Given the description of an element on the screen output the (x, y) to click on. 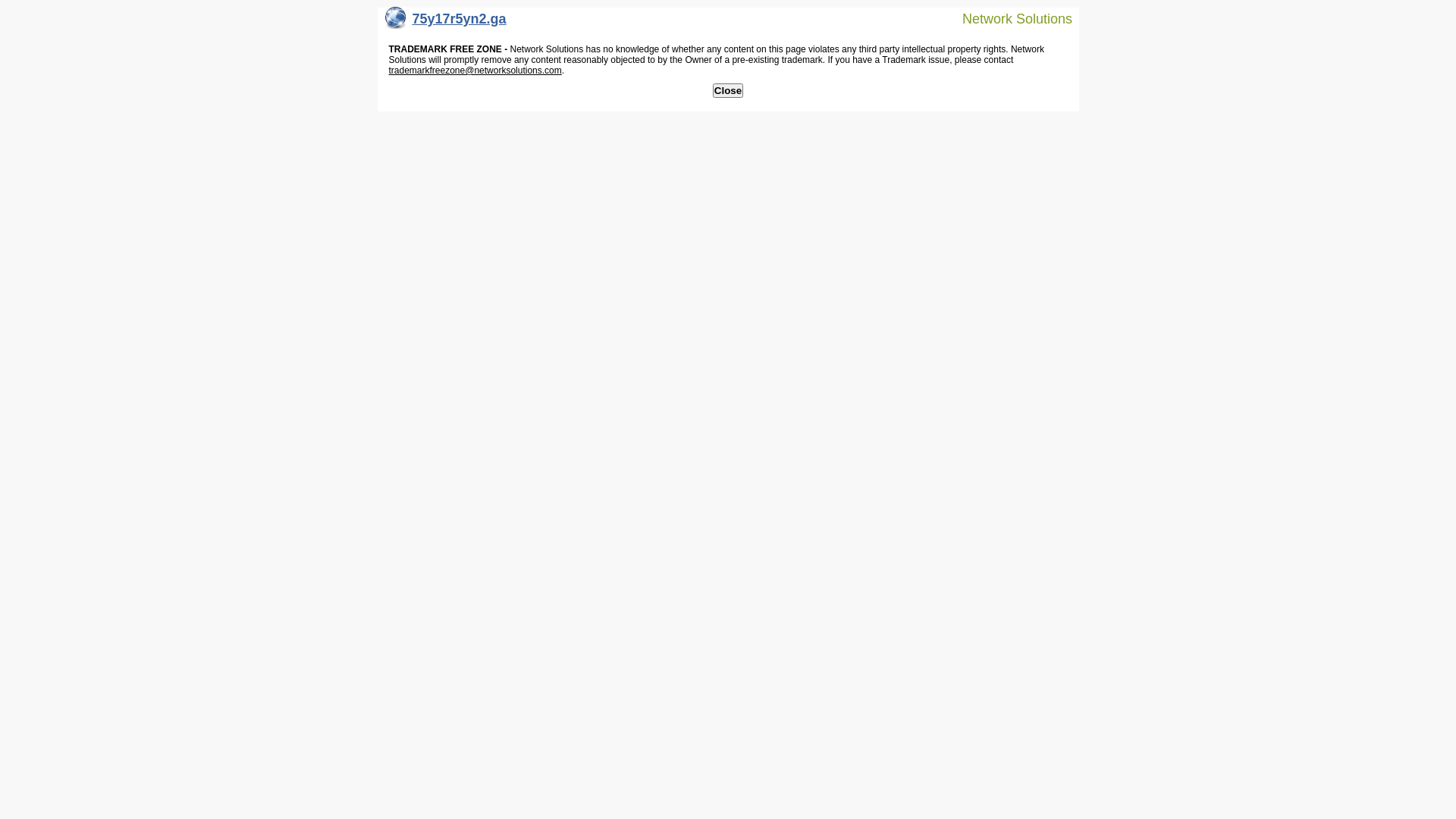
Close Element type: text (727, 90)
trademarkfreezone@networksolutions.com Element type: text (474, 70)
75y17r5yn2.ga Element type: text (445, 21)
Network Solutions Element type: text (1007, 17)
